Given the description of an element on the screen output the (x, y) to click on. 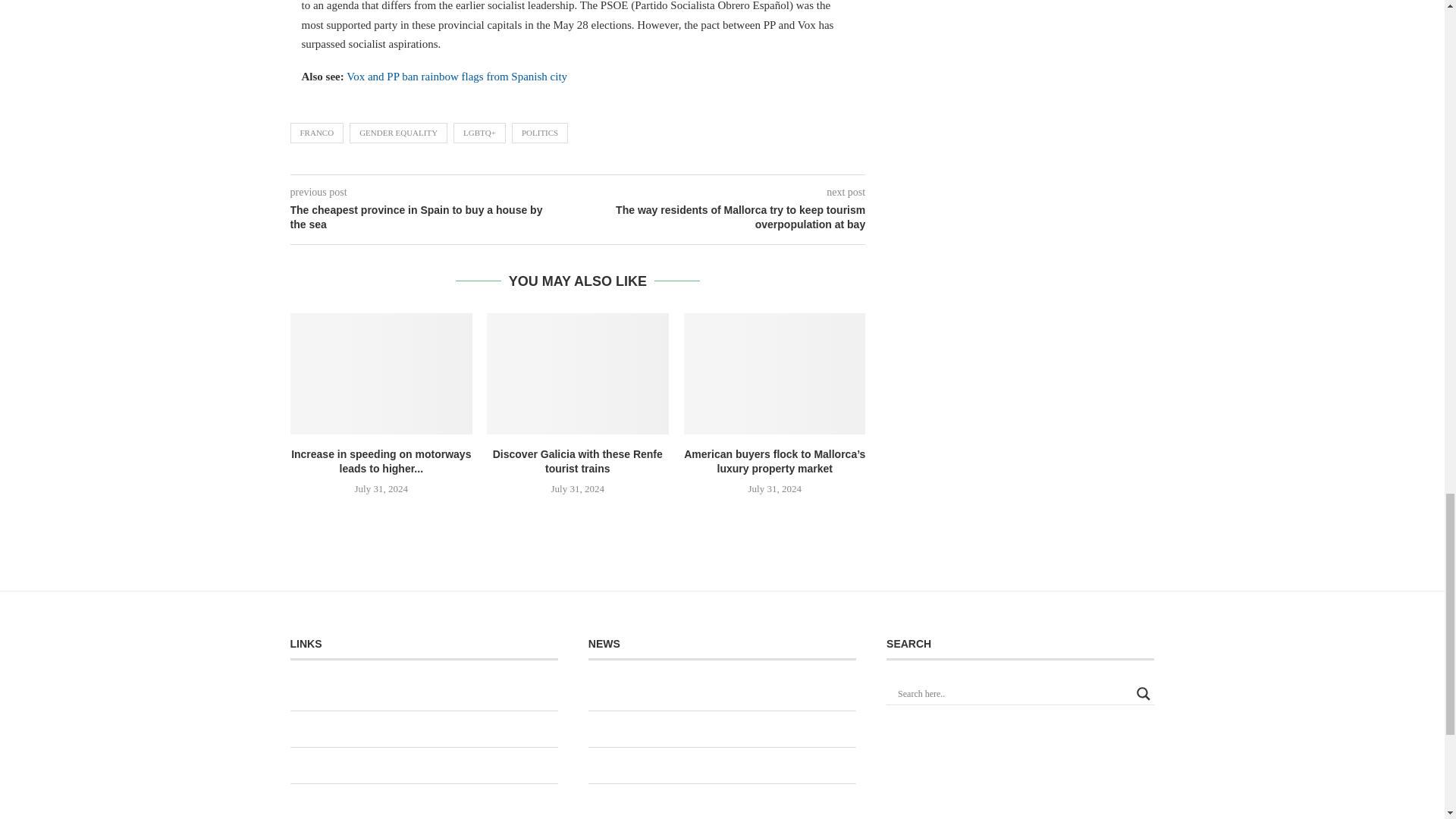
GENDER EQUALITY (397, 132)
FRANCO (316, 132)
Discover Galicia with these Renfe tourist trains (577, 373)
POLITICS (539, 132)
Vox and PP ban rainbow flags from Spanish city (456, 76)
